Given the description of an element on the screen output the (x, y) to click on. 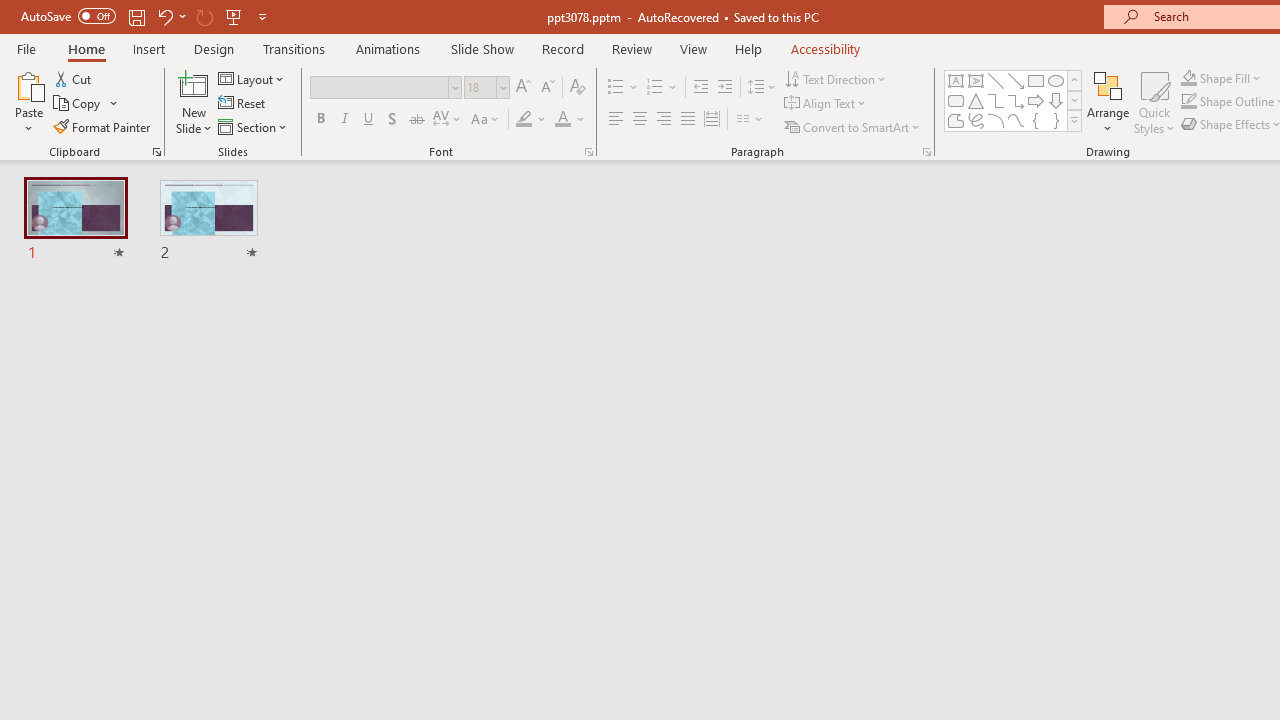
Class: NetUIImage (1075, 120)
Oval (1055, 80)
Isosceles Triangle (975, 100)
Transitions (294, 48)
Freeform: Scribble (975, 120)
Font (385, 87)
Font Size (486, 87)
AutoSave (68, 16)
Quick Access Toolbar (145, 16)
Quick Styles (1154, 102)
